Given the description of an element on the screen output the (x, y) to click on. 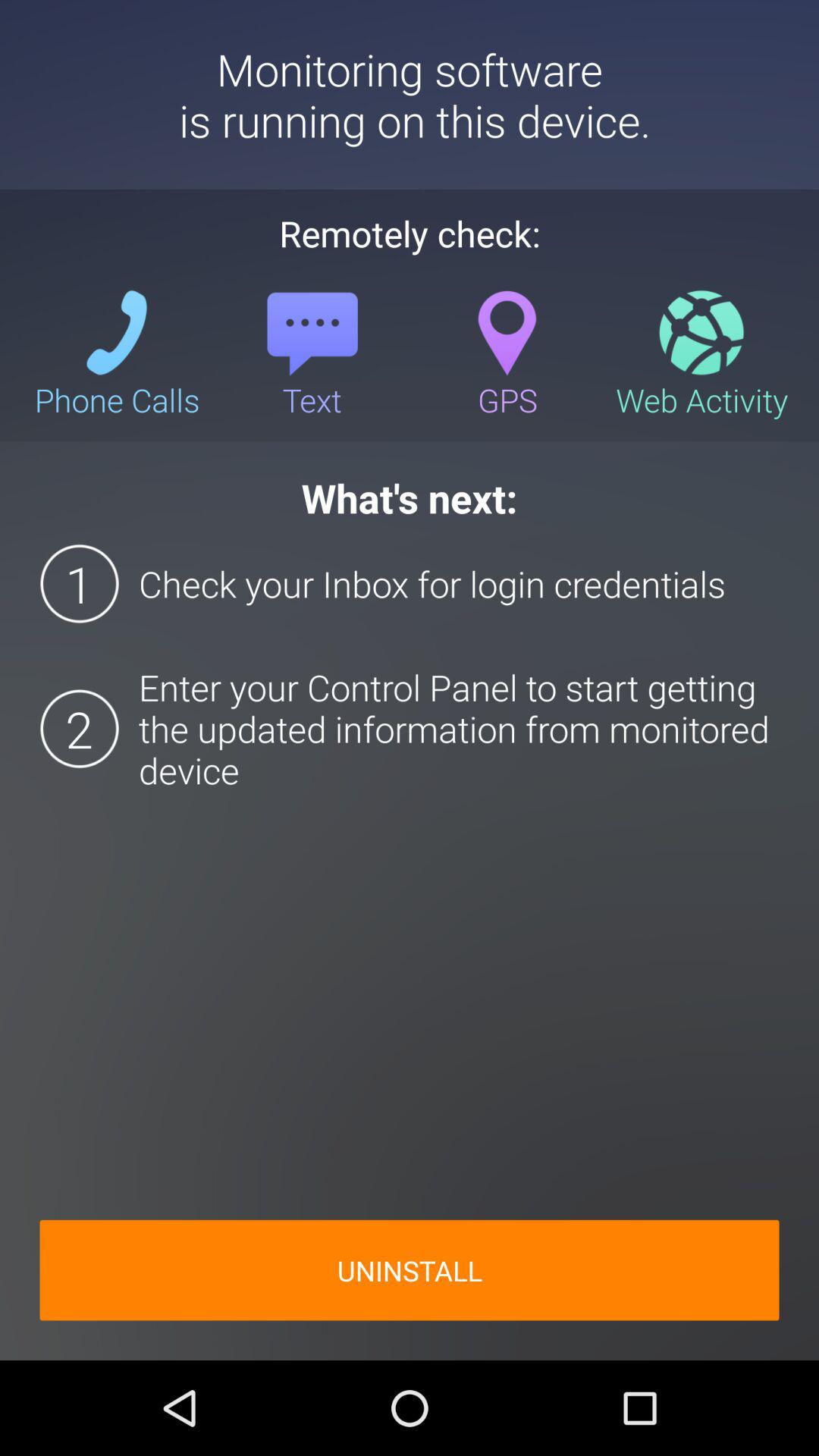
click on the text box in the bottom line of the page (409, 1270)
